Given the description of an element on the screen output the (x, y) to click on. 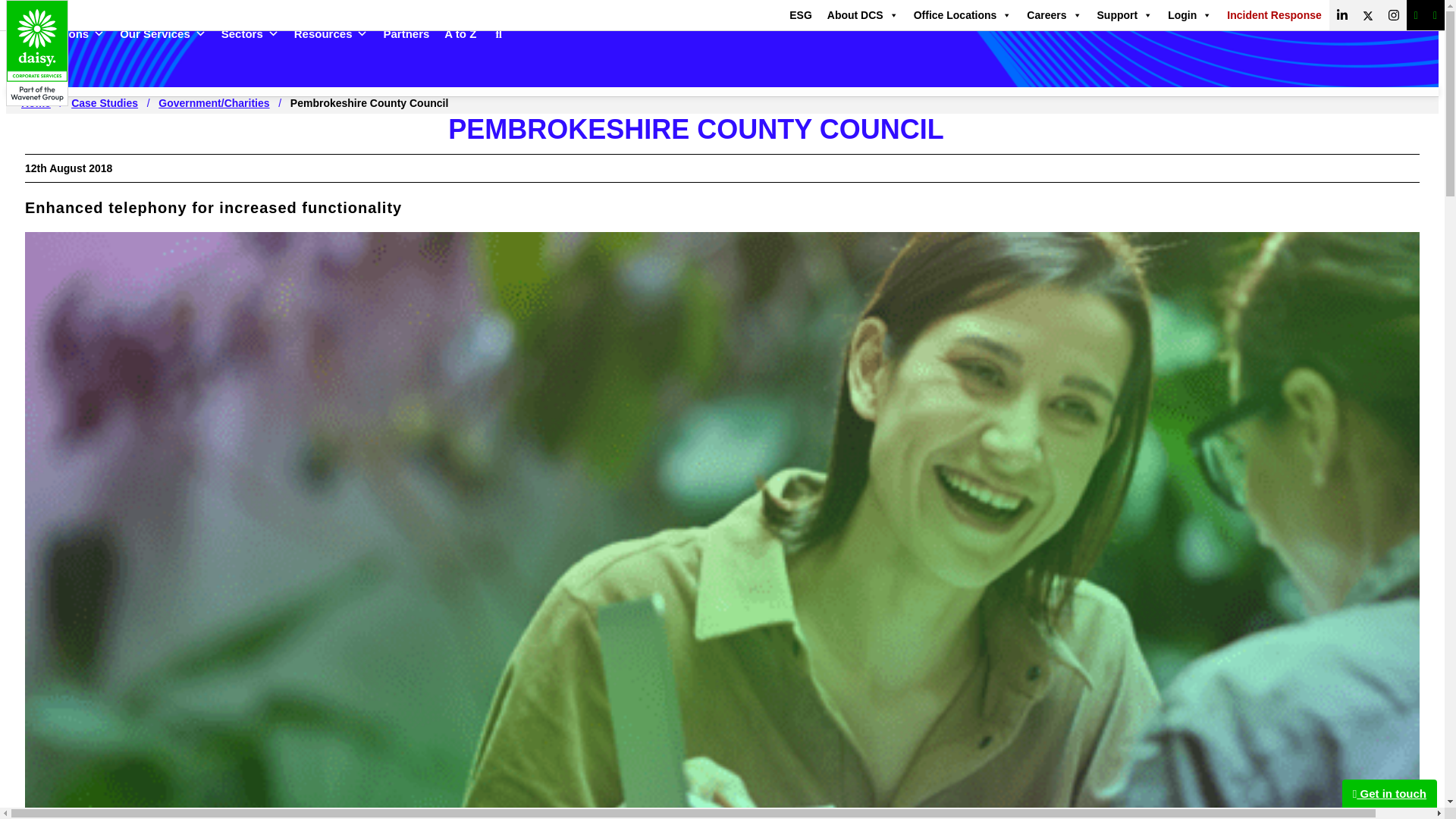
Office Locations (962, 15)
ESG (800, 15)
Careers (1054, 15)
About DCS (862, 15)
